Given the description of an element on the screen output the (x, y) to click on. 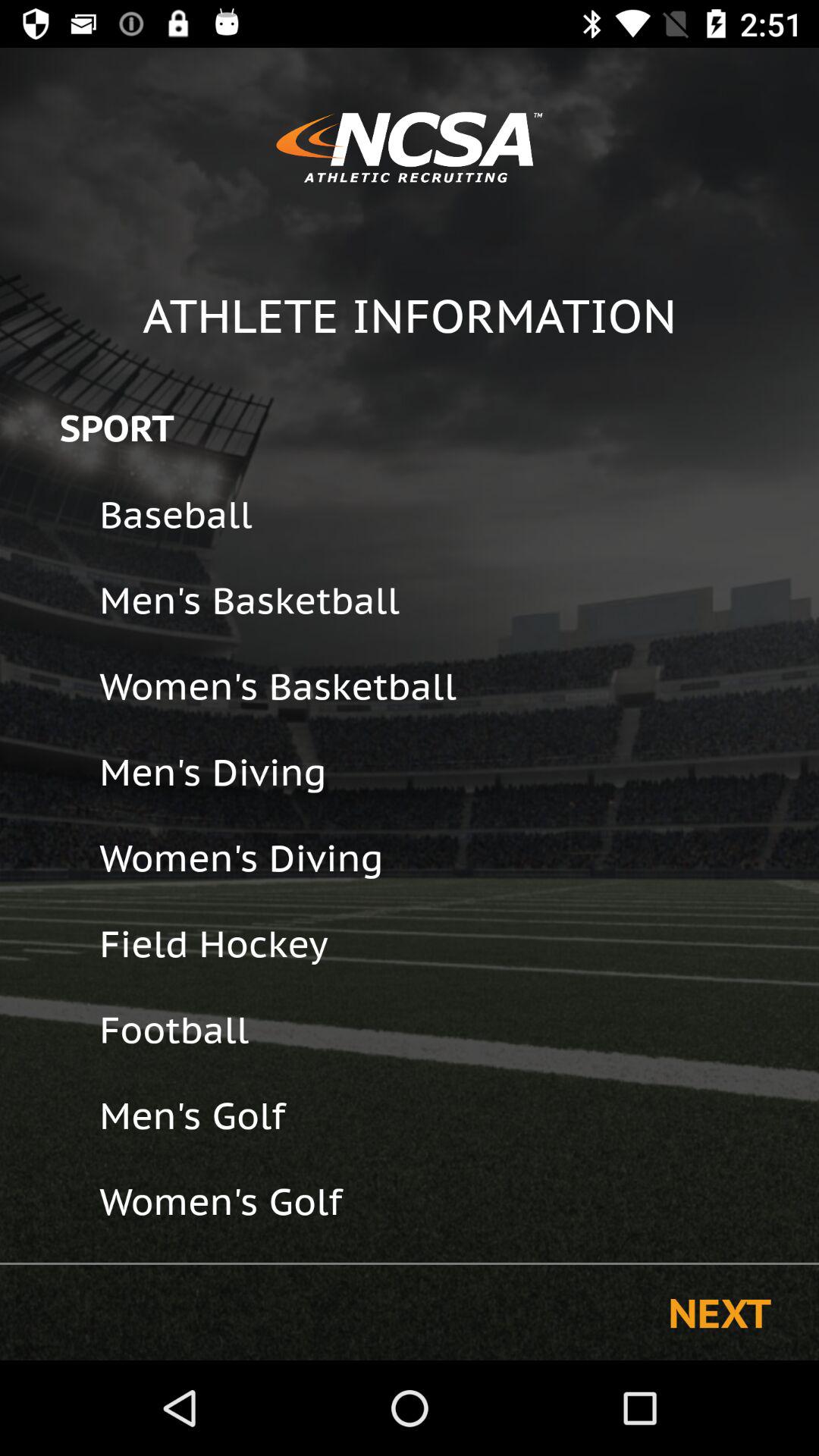
turn on the icon above the men's golf icon (449, 1029)
